Given the description of an element on the screen output the (x, y) to click on. 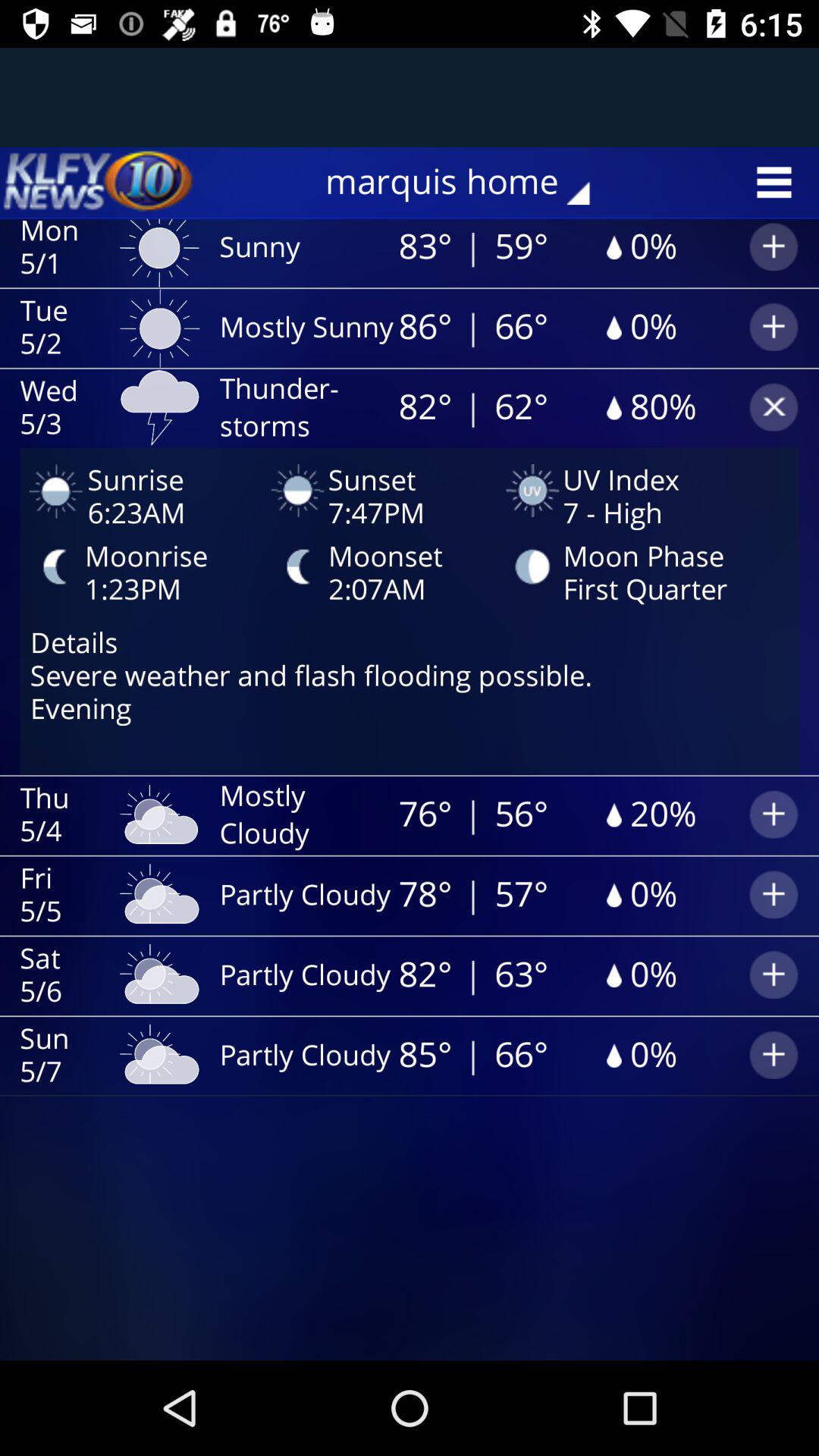
select the icon  which is left to the text 20 (611, 815)
